Given the description of an element on the screen output the (x, y) to click on. 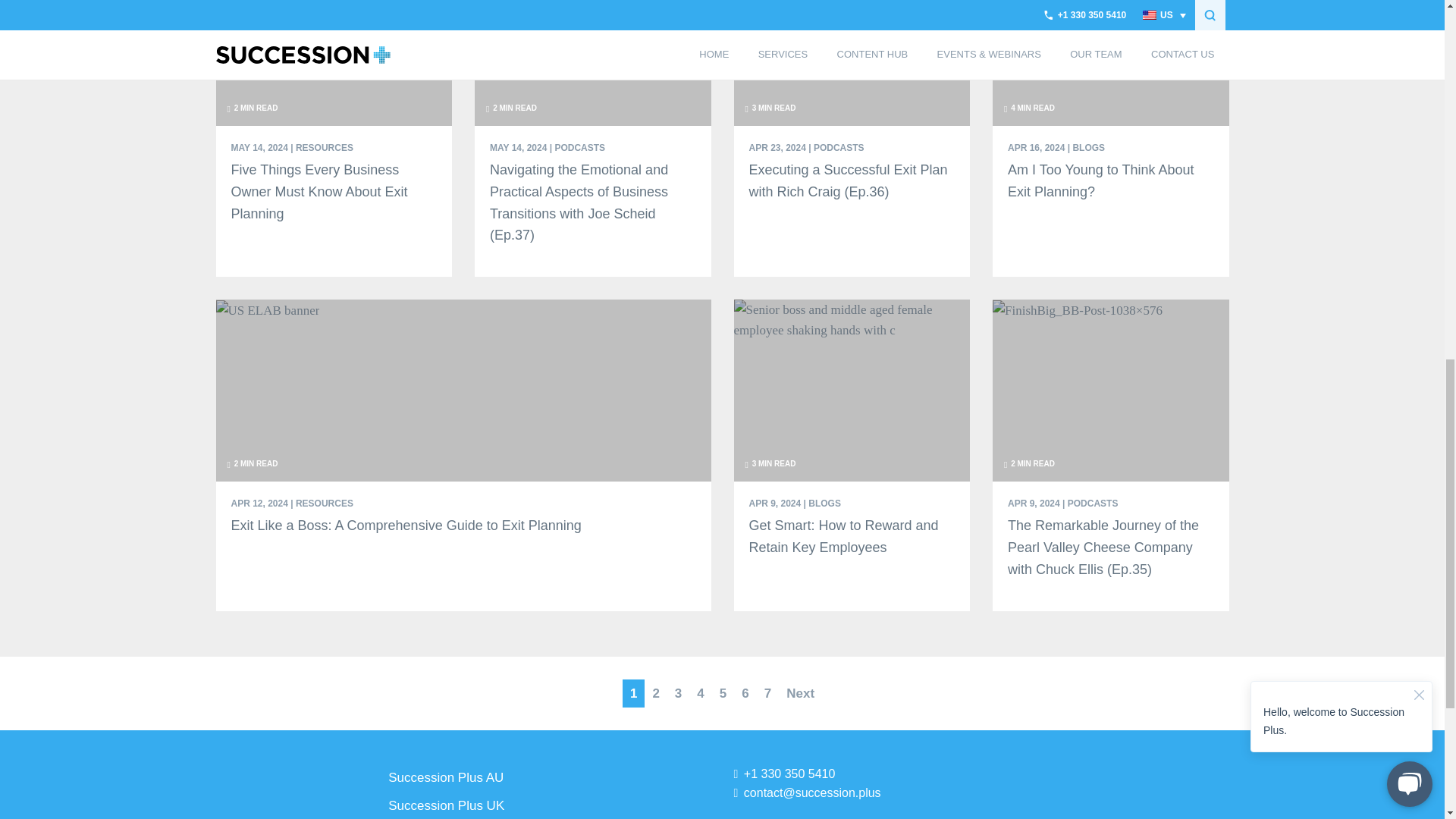
Form 0 (1110, 791)
US ELAB banner (266, 310)
Next (800, 693)
